Given the description of an element on the screen output the (x, y) to click on. 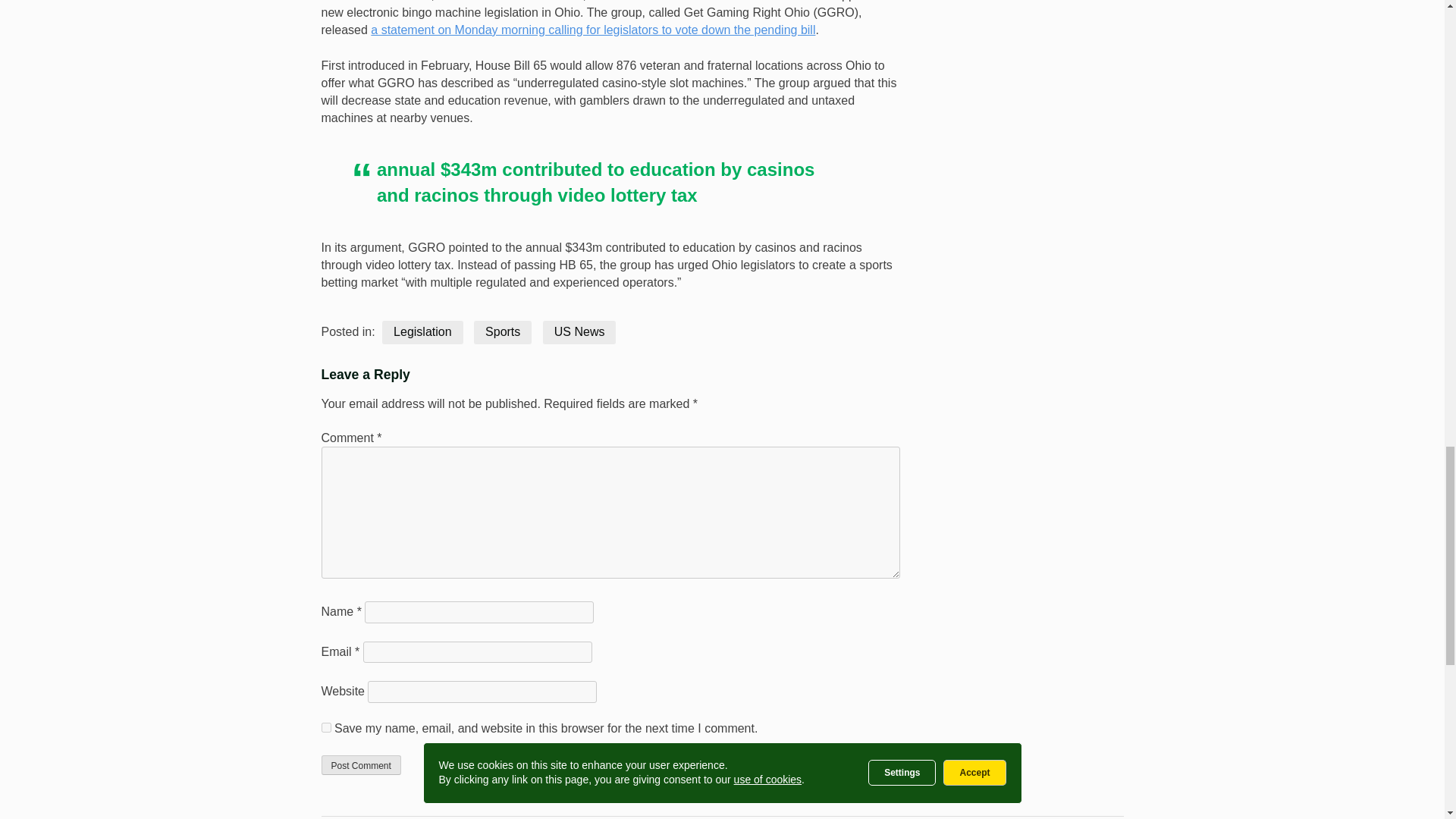
Legislation (422, 332)
US News (579, 332)
yes (326, 727)
Sports (502, 332)
Post Comment (361, 764)
Post Comment (361, 764)
